Given the description of an element on the screen output the (x, y) to click on. 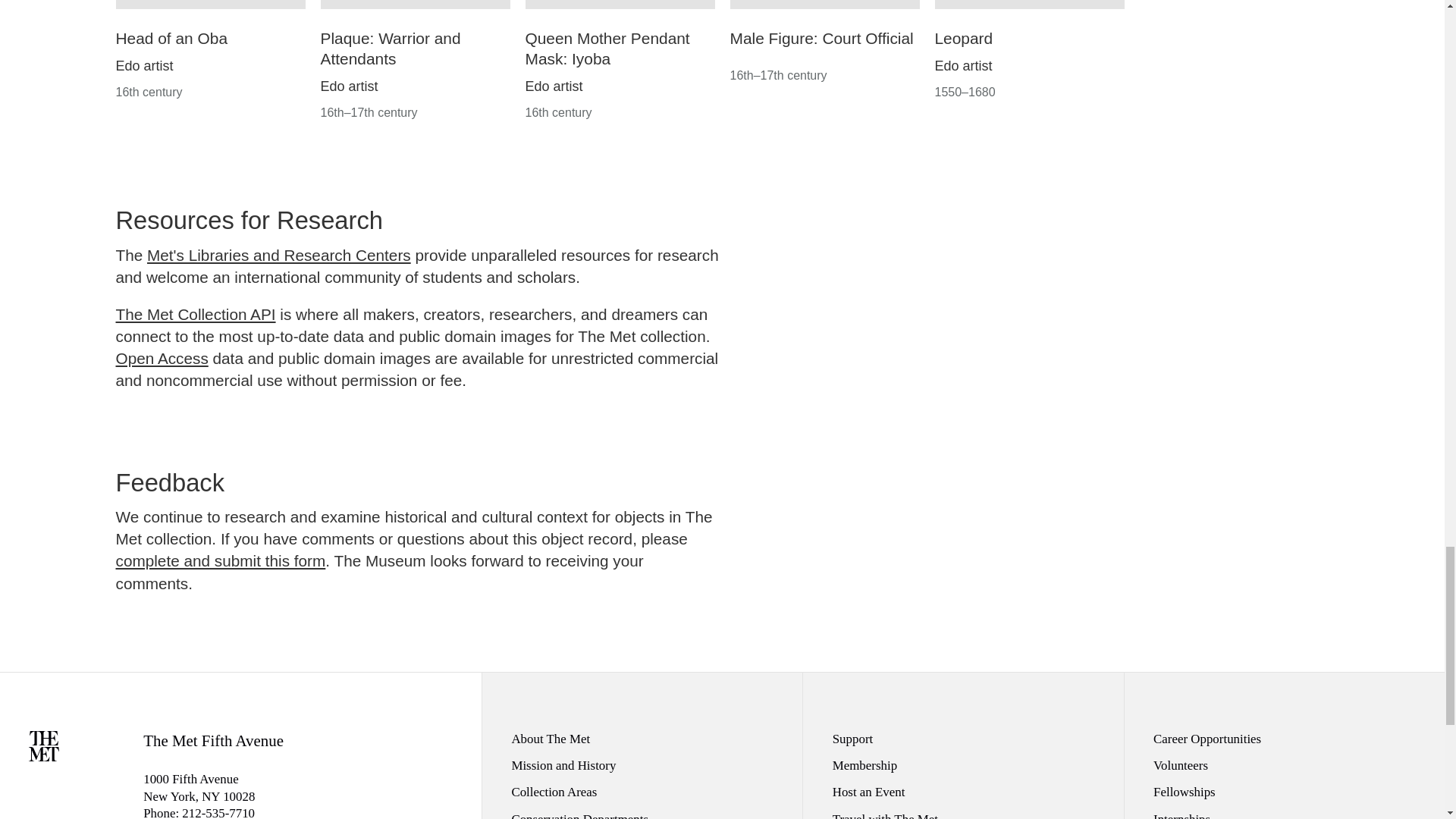
Homepage (44, 755)
